Given the description of an element on the screen output the (x, y) to click on. 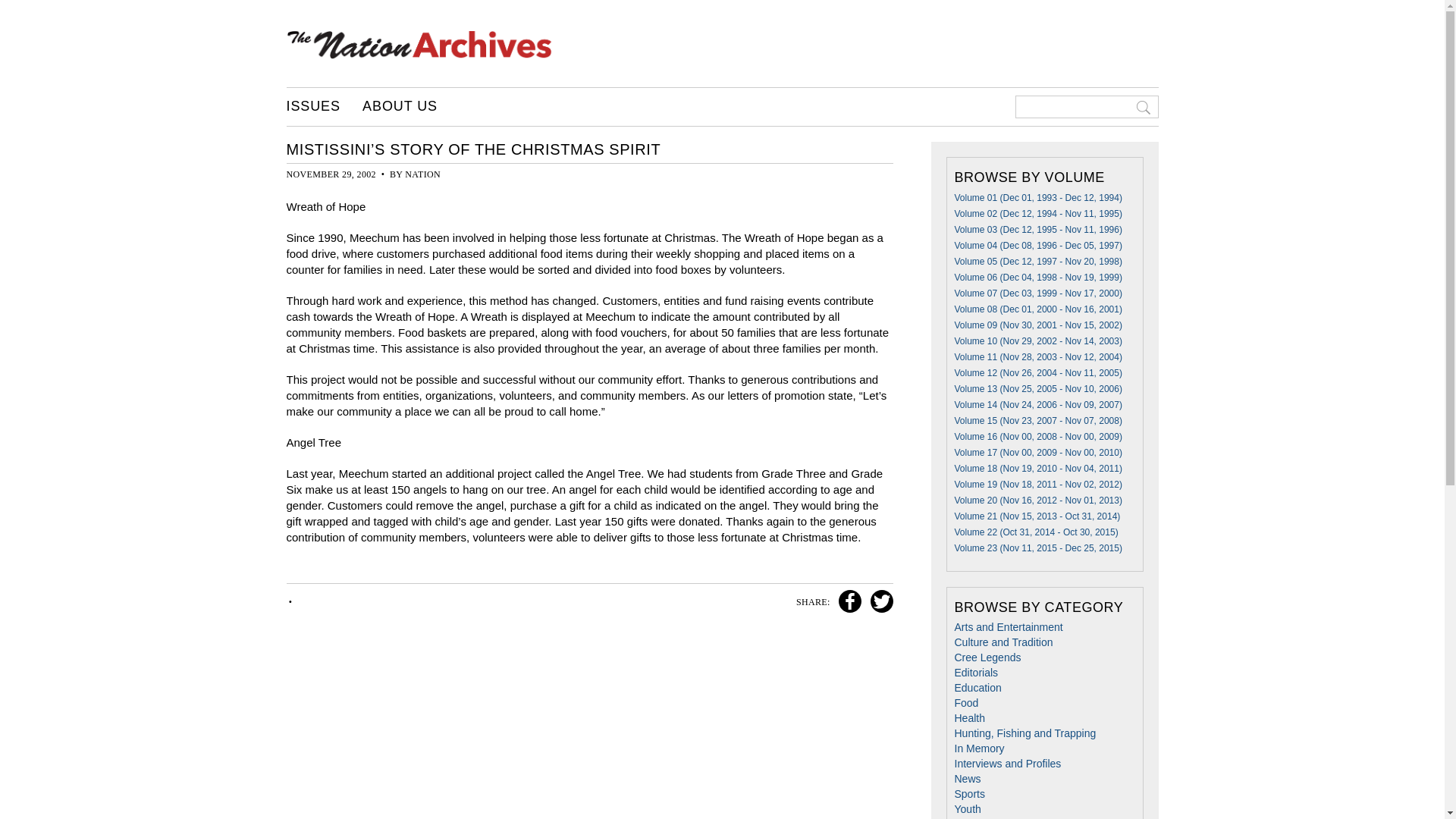
ISSUES (313, 106)
Health (968, 717)
Food (965, 702)
Arts and Entertainment (1007, 626)
ABOUT US (400, 106)
In Memory (978, 748)
Editorials (975, 672)
Culture and Tradition (1002, 642)
Tweet This (878, 602)
Hunting, Fishing and Trapping (1024, 733)
Interviews and Profiles (1007, 763)
News (966, 778)
Share on Facebook (847, 602)
